Given the description of an element on the screen output the (x, y) to click on. 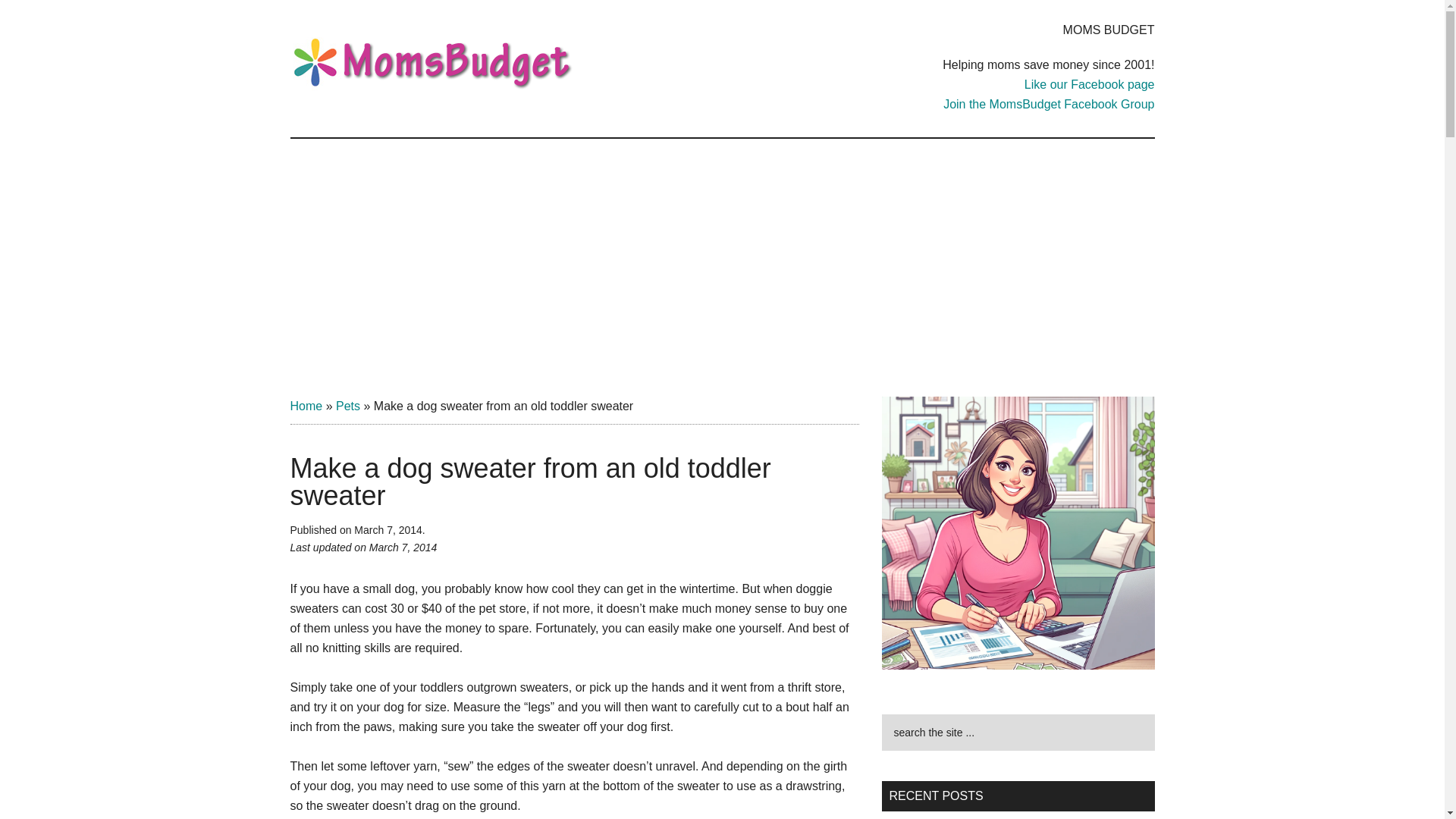
Pets (347, 405)
Join the MomsBudget Facebook Group (1048, 103)
Like our Facebook page (1089, 83)
Home (305, 405)
